Given the description of an element on the screen output the (x, y) to click on. 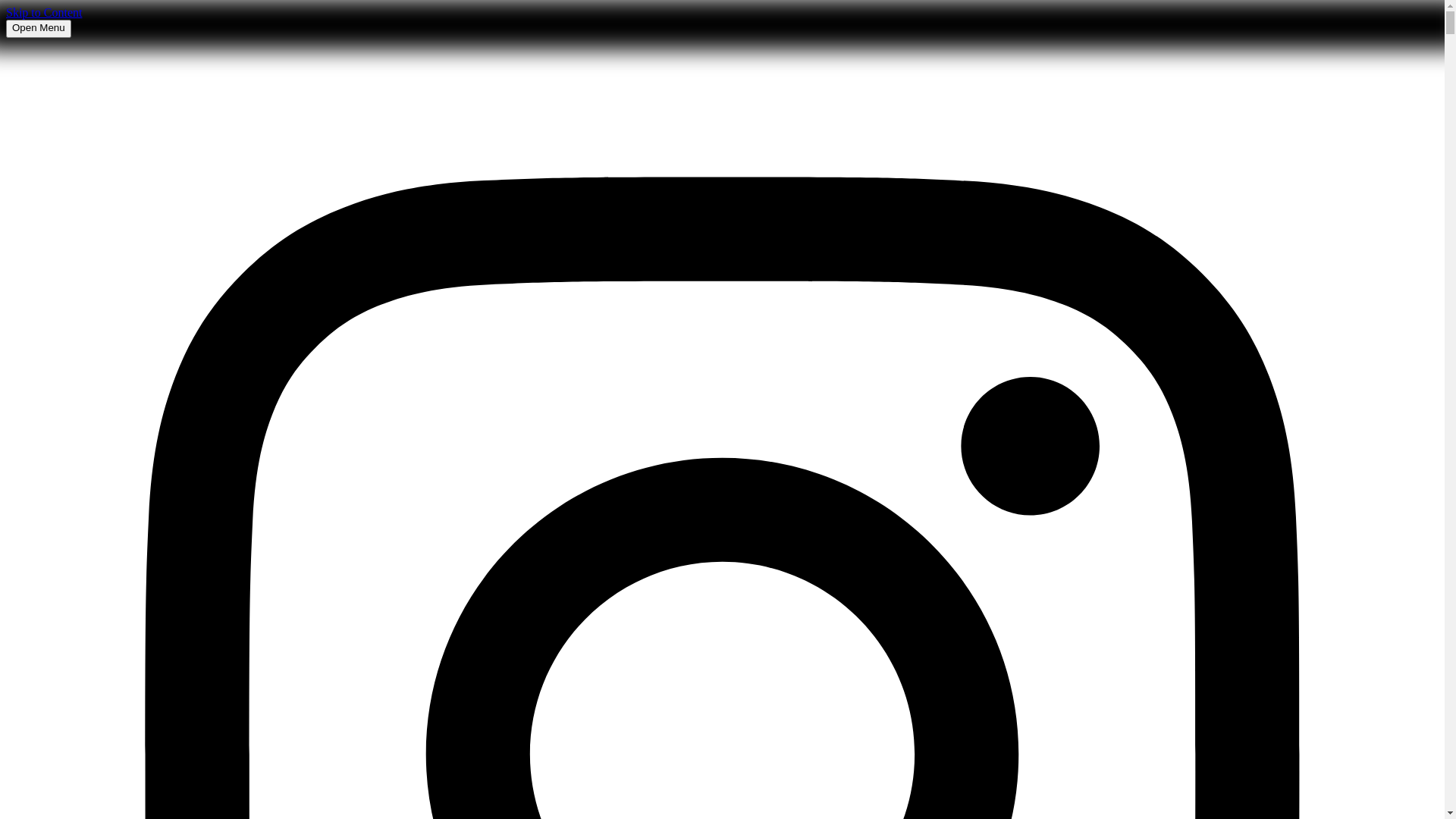
Skip to Content Element type: text (43, 12)
Open Menu Element type: text (38, 28)
